Given the description of an element on the screen output the (x, y) to click on. 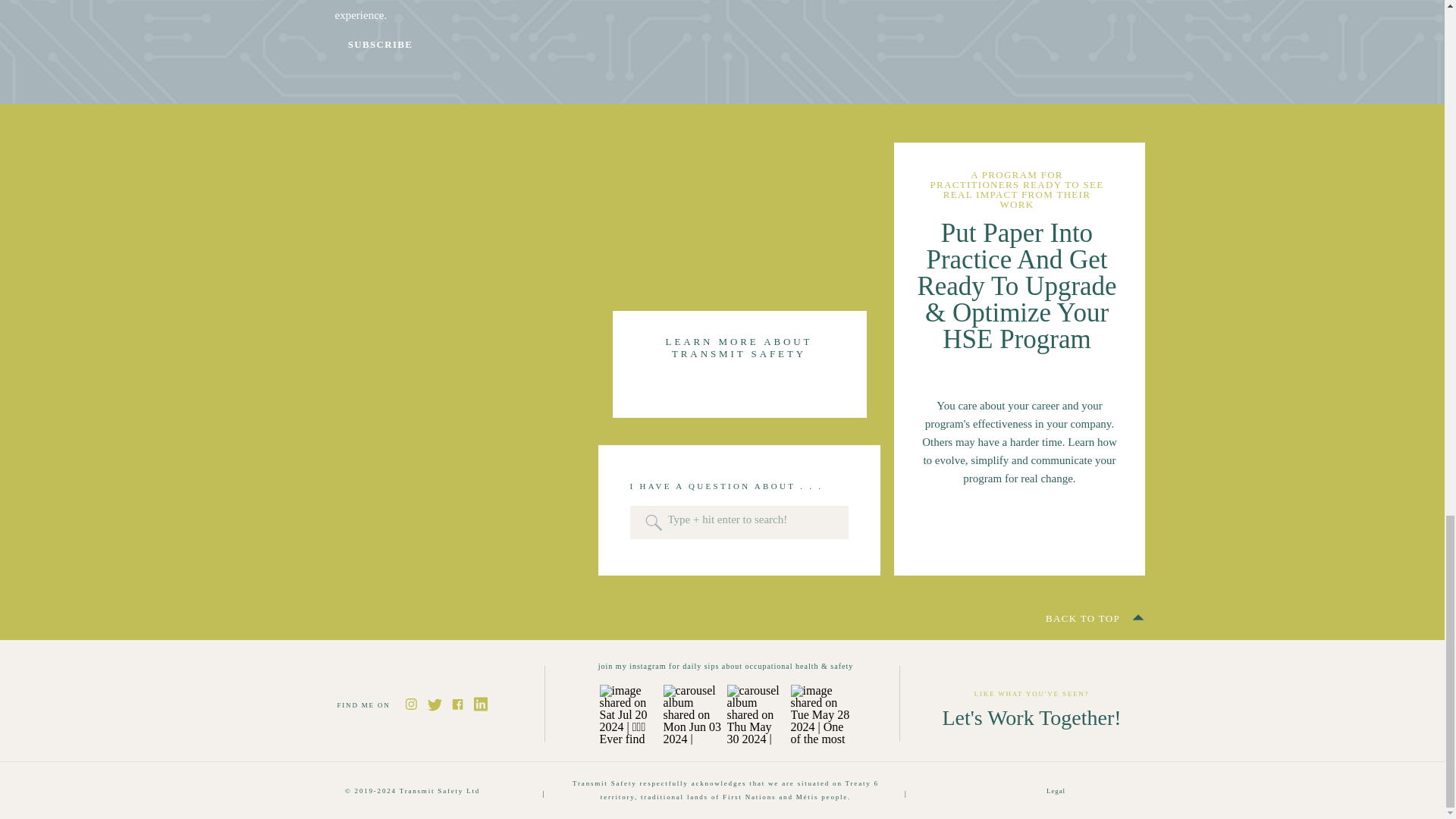
Instagram-color Created with Sketch. (410, 704)
Facebook Copy-color Created with Sketch. (457, 704)
LEARN MORE (1017, 537)
SUBSCRIBE (380, 49)
